Given the description of an element on the screen output the (x, y) to click on. 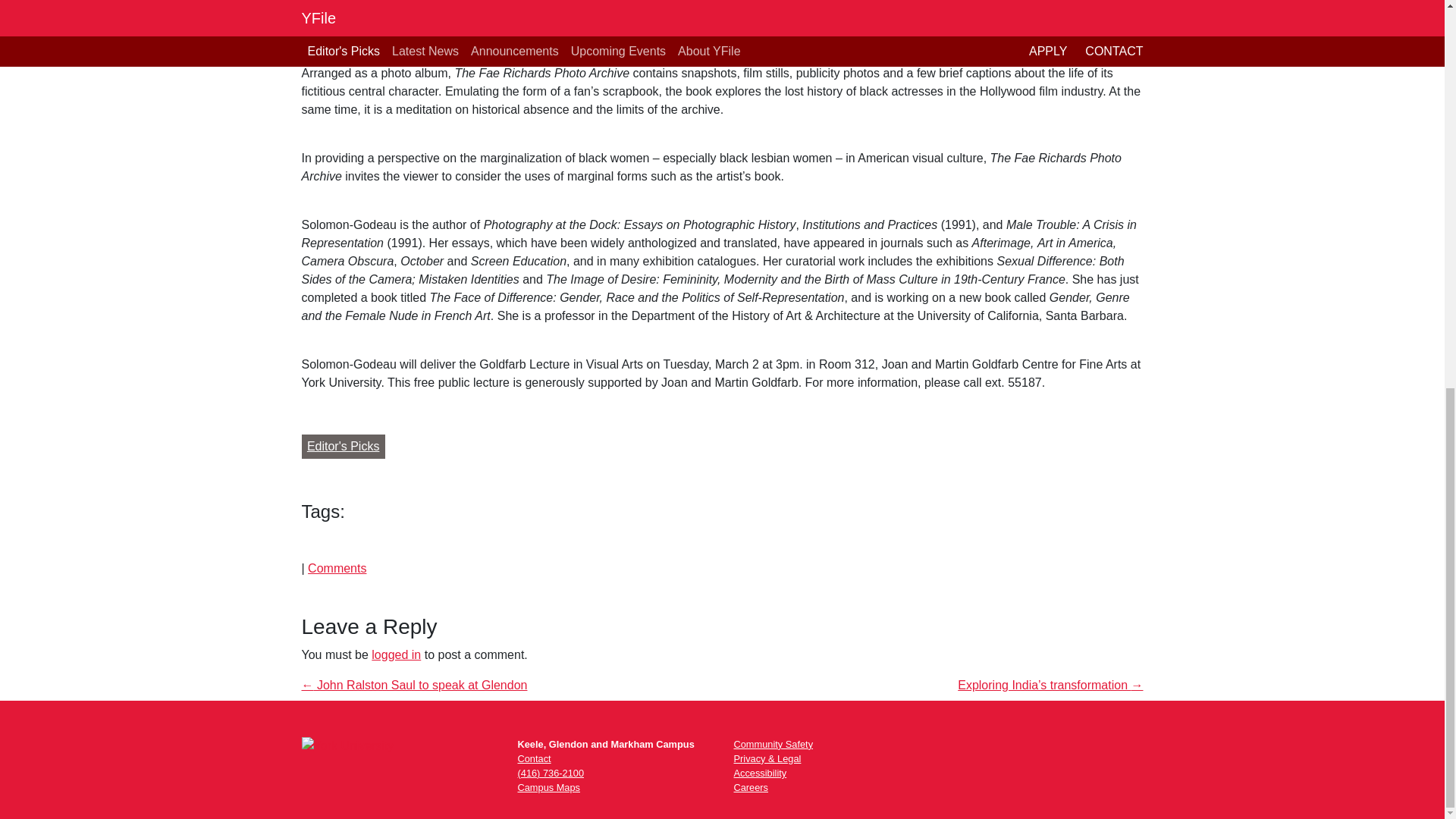
logged in (395, 654)
Contact (533, 758)
Comments (336, 567)
Editor's Picks (343, 446)
